Given the description of an element on the screen output the (x, y) to click on. 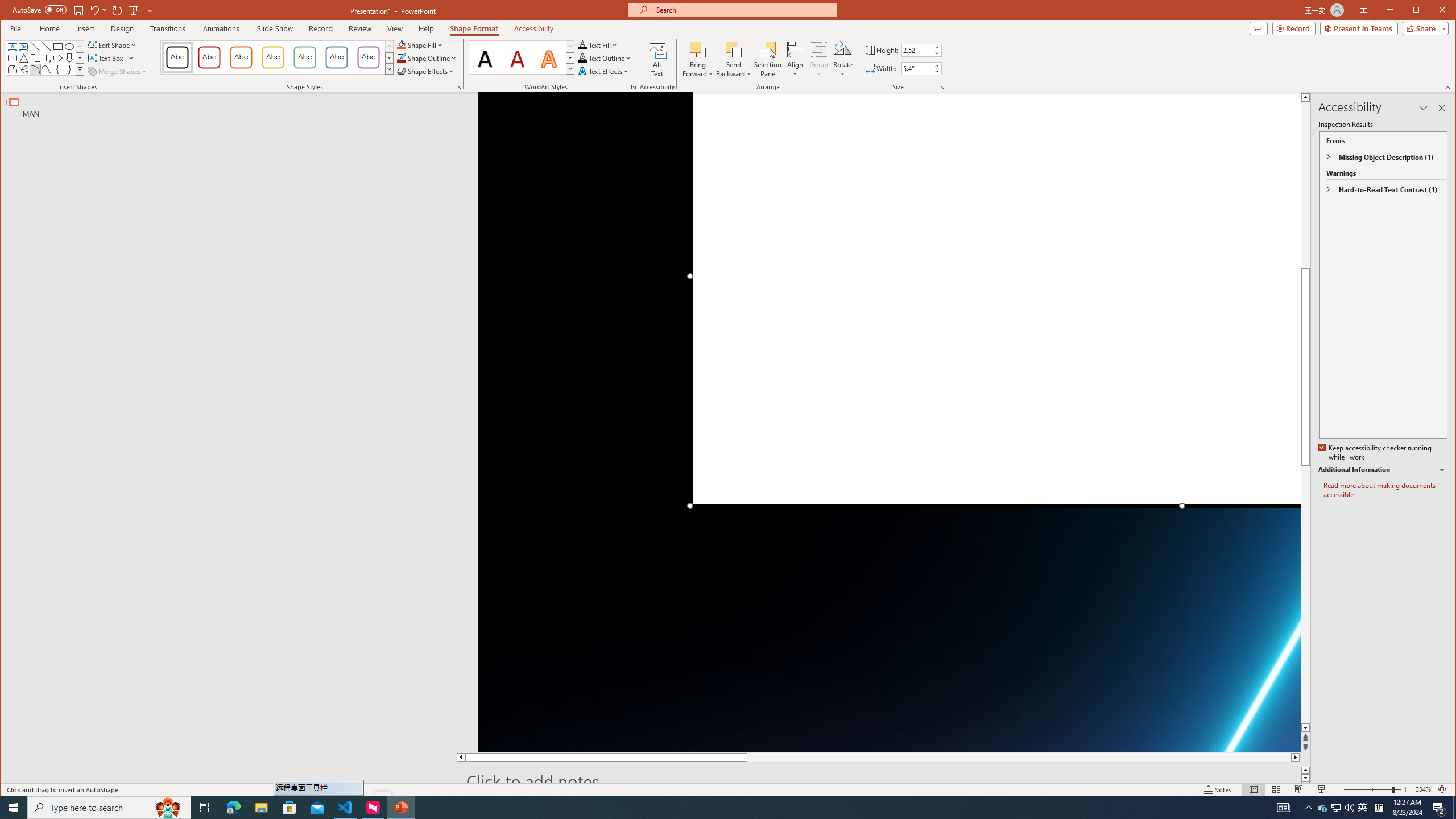
Class: MsoCommandBar (728, 789)
Arrow: Down (69, 57)
AutoSave (38, 9)
Collapse the Ribbon (1448, 87)
Shape Fill (419, 44)
Page down (1305, 603)
Align (794, 59)
Selection Pane... (1335, 807)
Q2790: 100% (767, 59)
Additional Information (1349, 807)
Zoom (1382, 469)
Visual Studio Code - 1 running window (1371, 789)
